Given the description of an element on the screen output the (x, y) to click on. 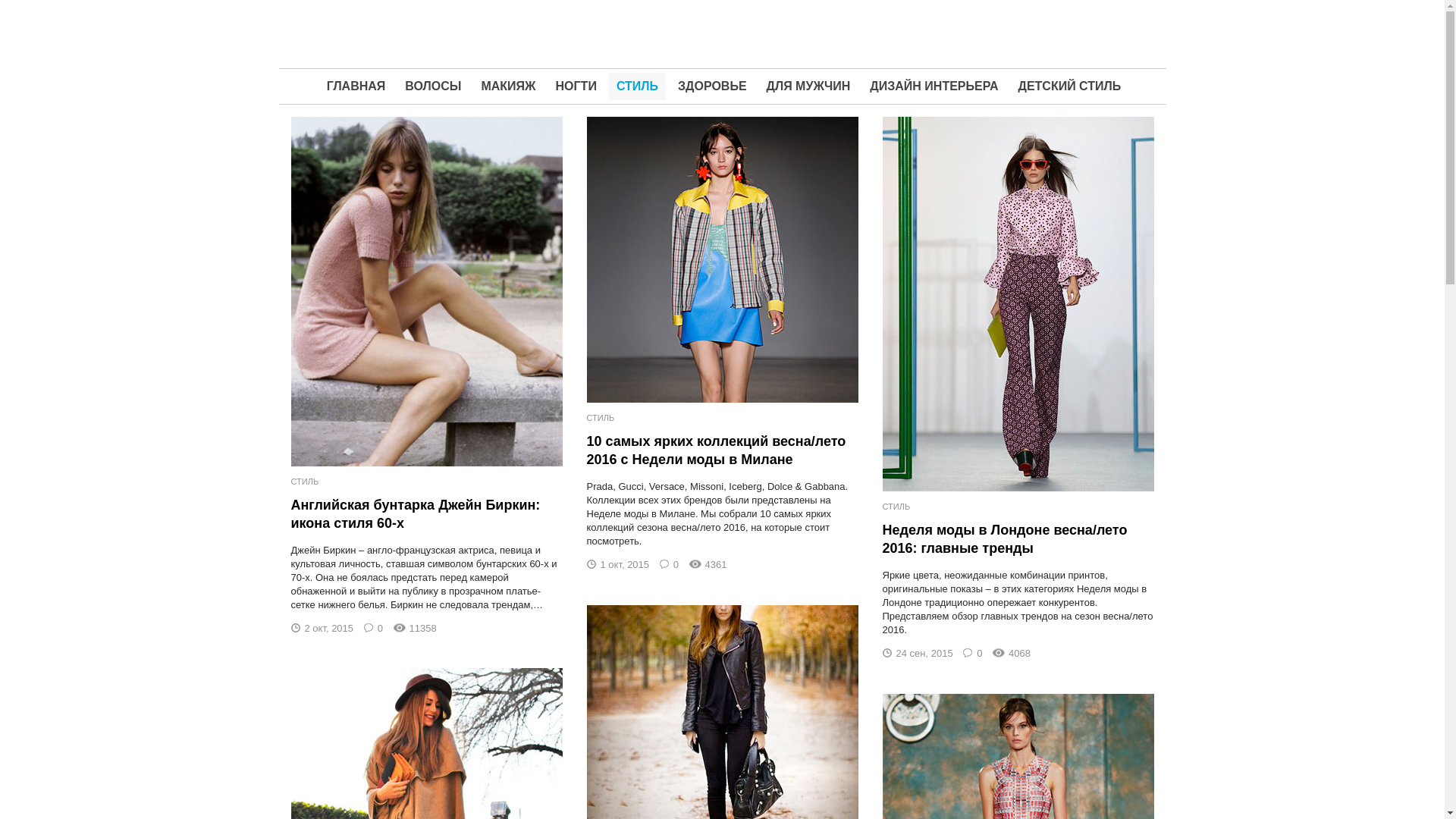
Advertisement Element type: hover (721, 34)
